Given the description of an element on the screen output the (x, y) to click on. 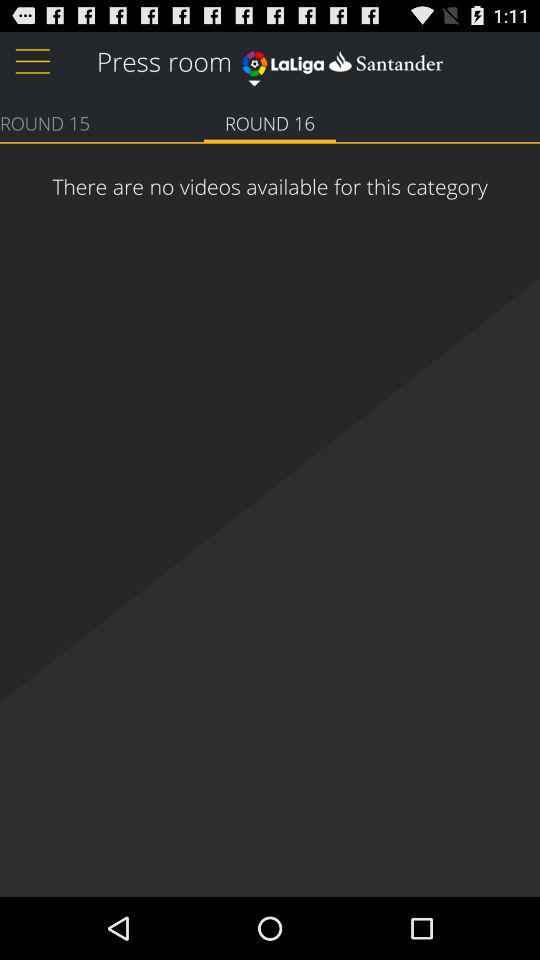
press app to the right of the press room app (342, 59)
